Given the description of an element on the screen output the (x, y) to click on. 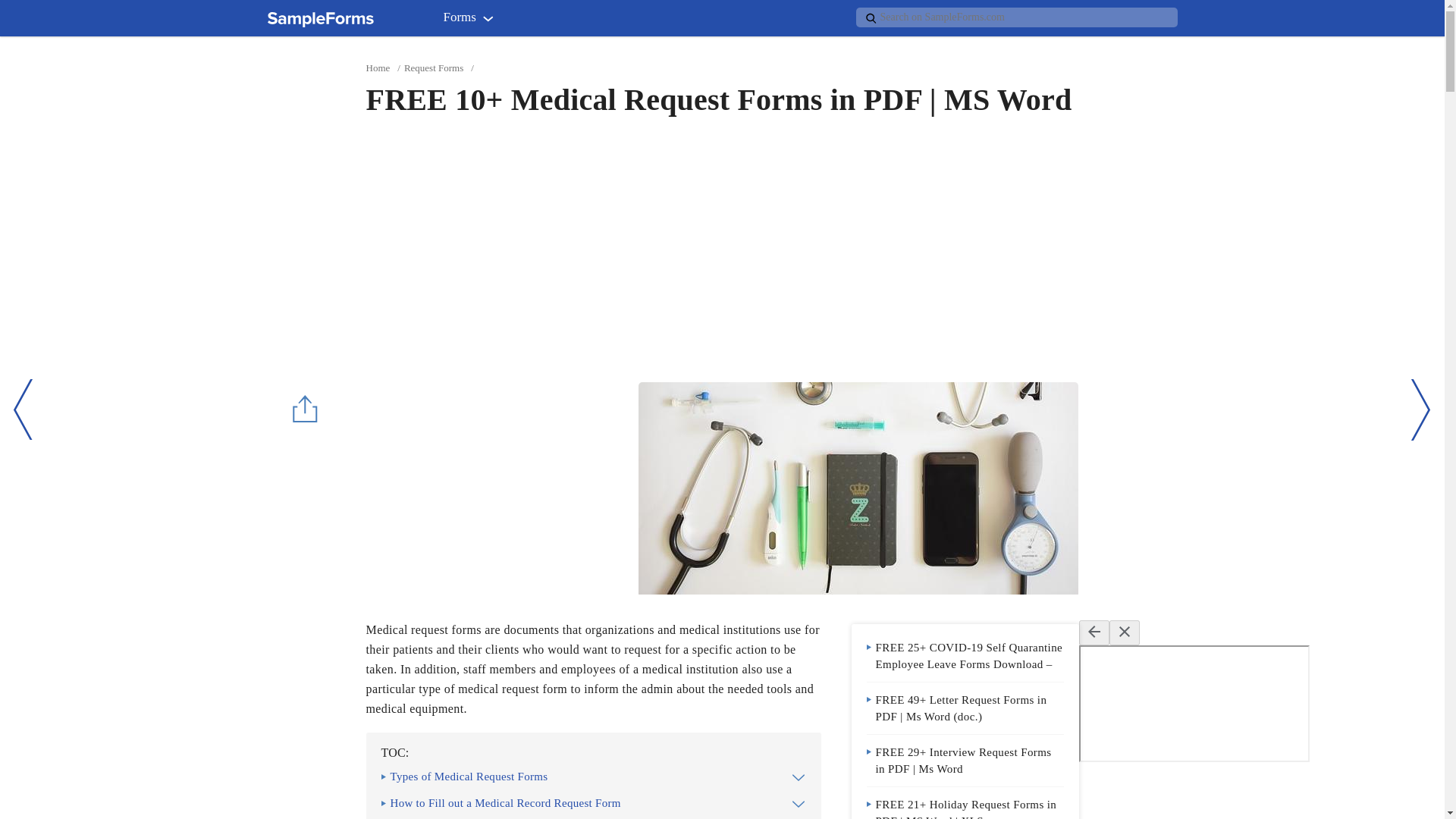
medical request forms (858, 488)
Home (377, 68)
Advertisement (492, 488)
Forms (471, 20)
